Given the description of an element on the screen output the (x, y) to click on. 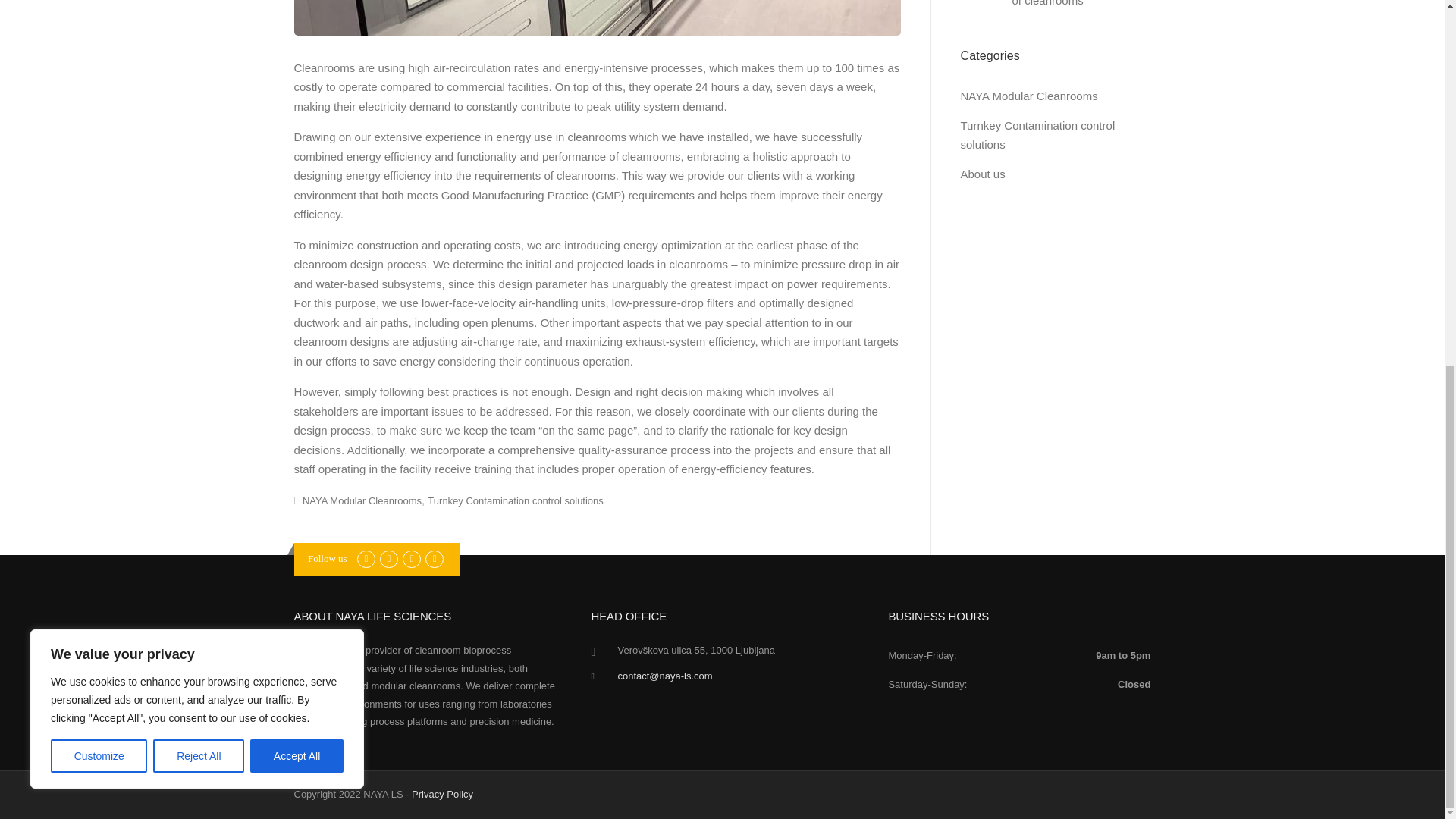
Reject All (198, 97)
Accept All (296, 97)
Facebook (365, 558)
Customize (98, 97)
Email (433, 558)
Combining energy efficiency and performance of cleanrooms (1079, 3)
Linkedin (388, 558)
Instagram (411, 558)
